Given the description of an element on the screen output the (x, y) to click on. 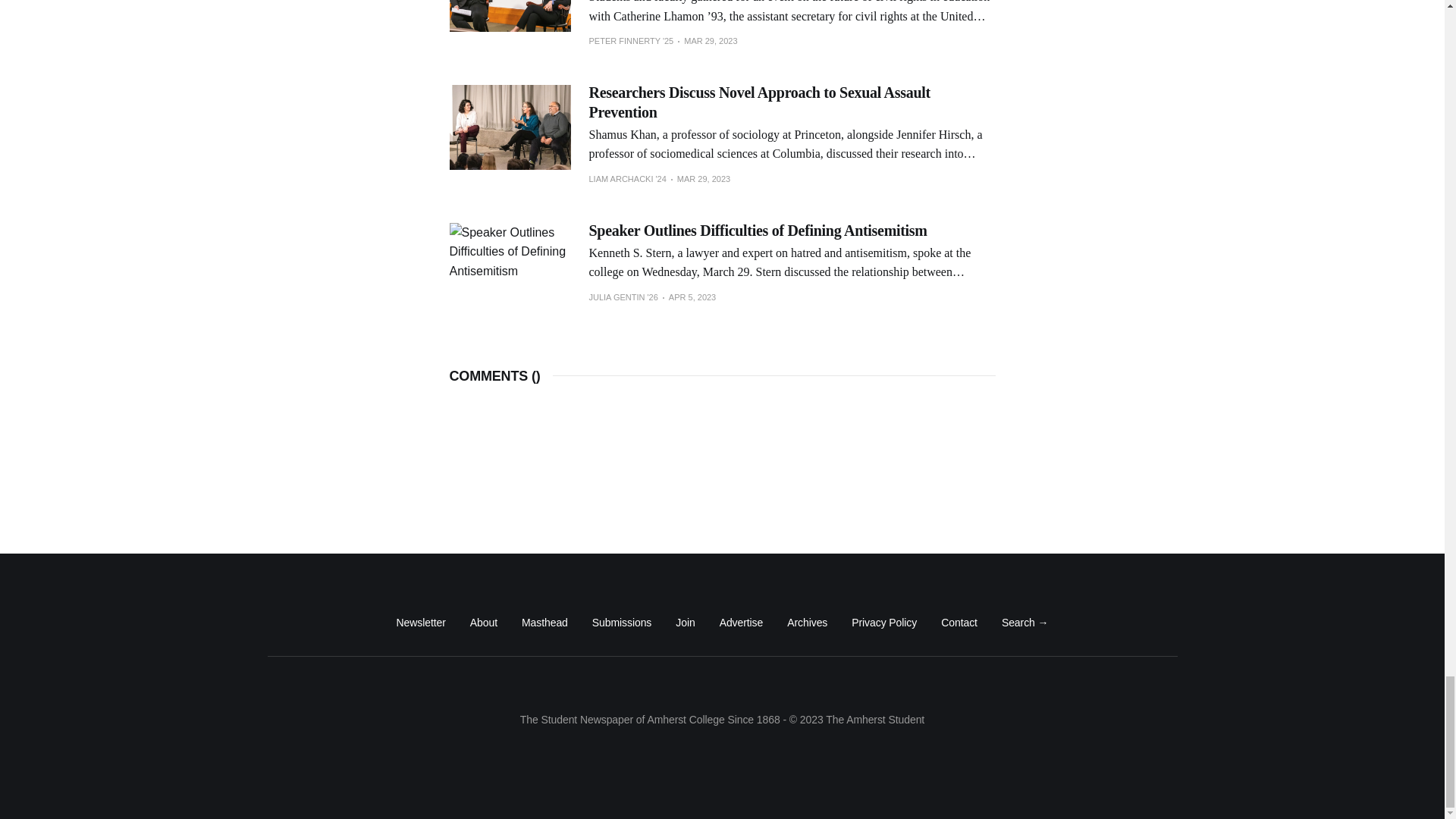
Submissions (621, 622)
Join (684, 622)
Masthead (544, 622)
Privacy Policy (884, 622)
Contact (958, 622)
Advertise (740, 622)
About (483, 622)
Archives (807, 622)
Newsletter (420, 622)
